Given the description of an element on the screen output the (x, y) to click on. 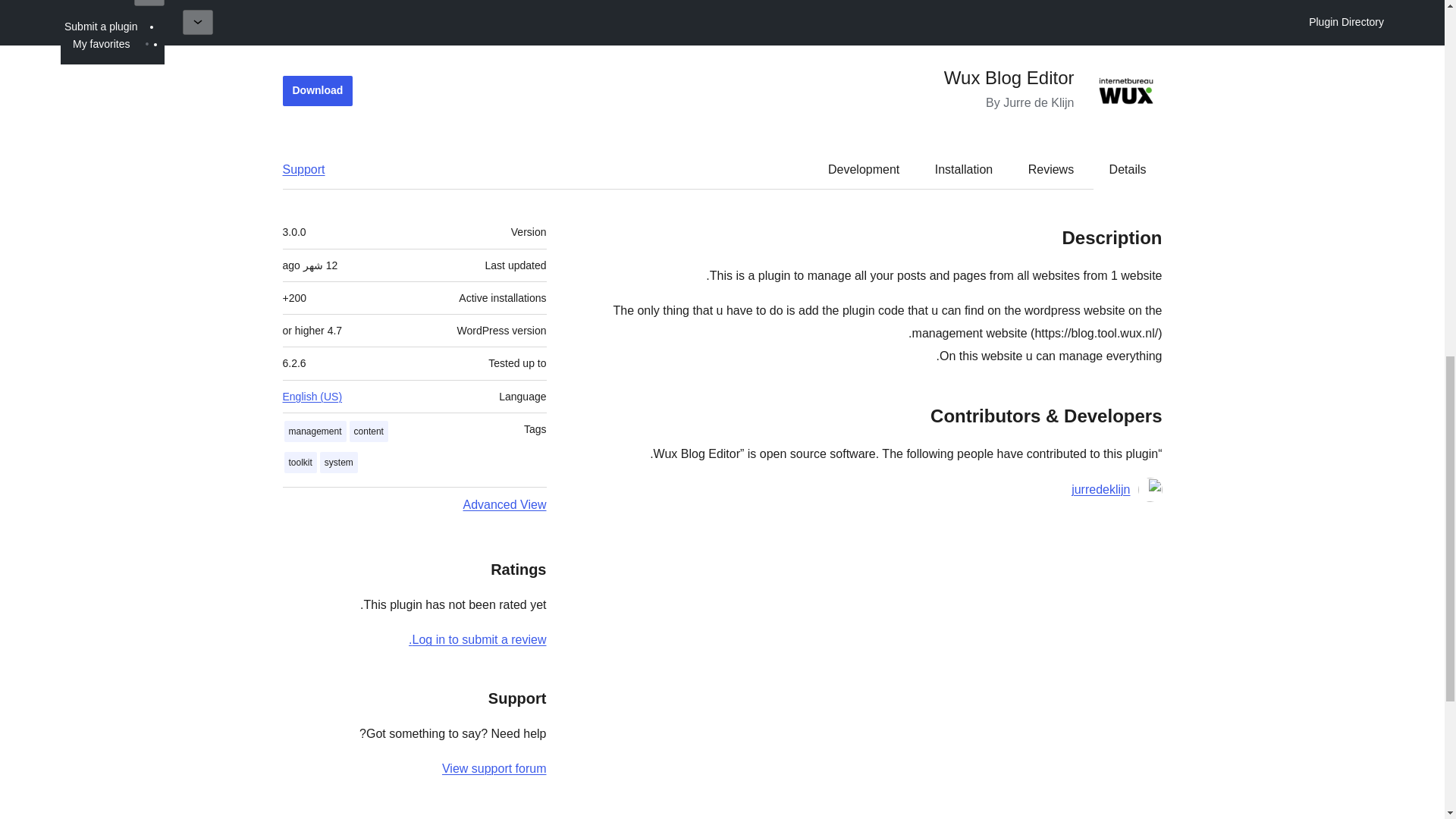
Reviews (1051, 169)
management (314, 431)
content (368, 431)
Development (863, 169)
Support (310, 169)
Installation (964, 169)
jurredeklijn (1100, 489)
Details (1127, 169)
Log in to WordPress.org (477, 639)
Download (317, 91)
